Given the description of an element on the screen output the (x, y) to click on. 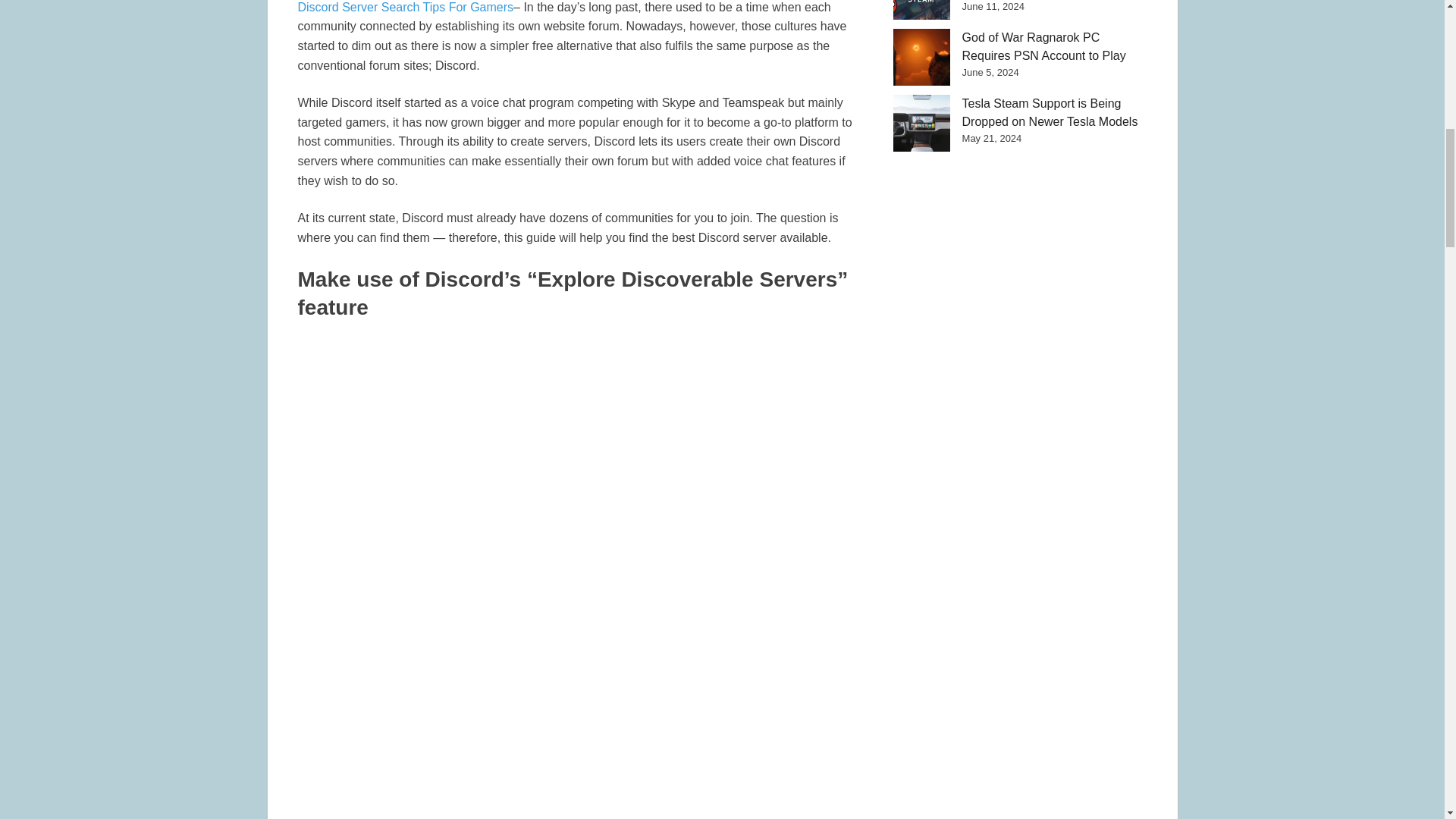
Discord Server Search Tips For Gamers (405, 6)
